Given the description of an element on the screen output the (x, y) to click on. 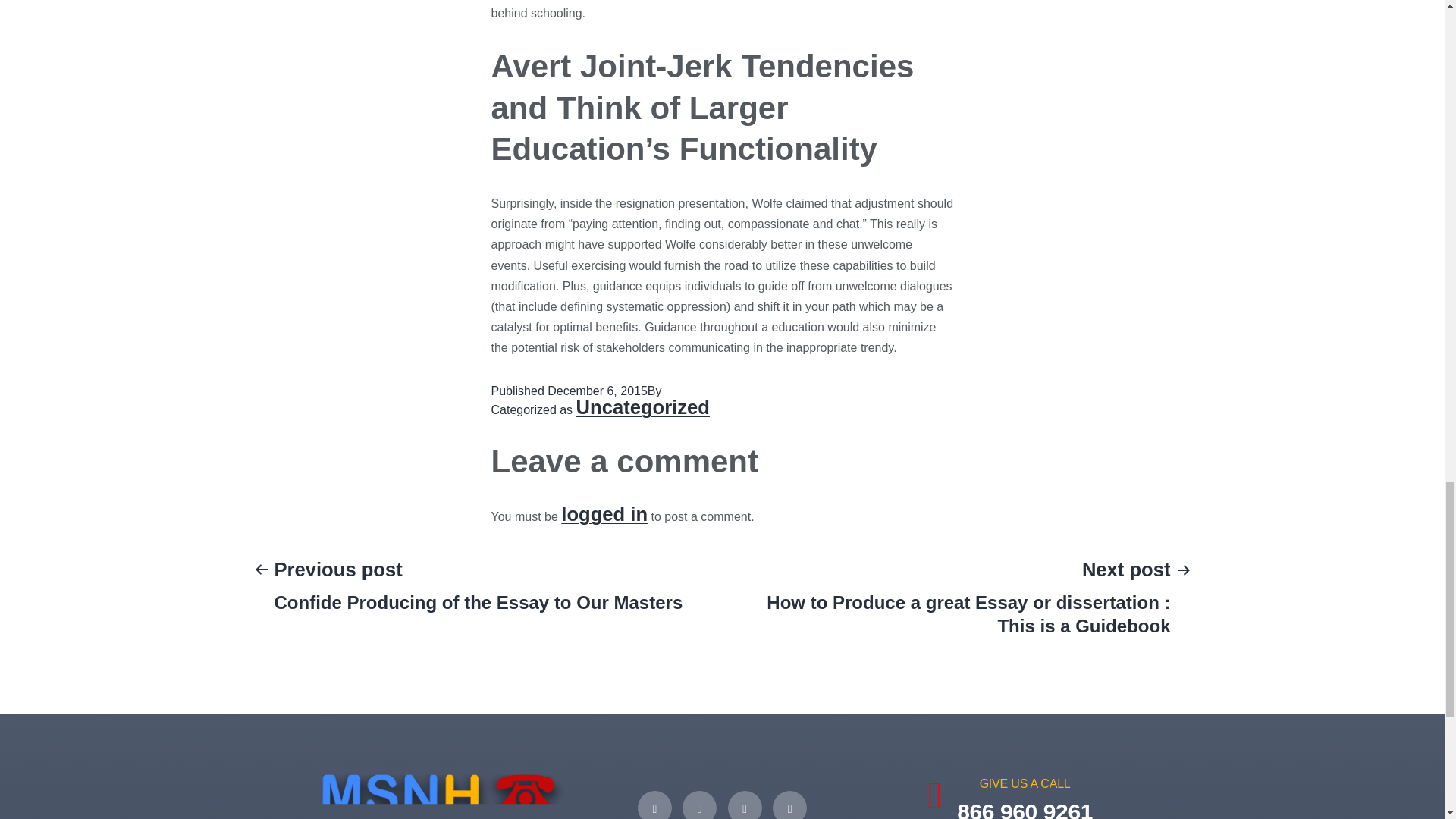
logged in (603, 513)
Uncategorized (1010, 797)
